Given the description of an element on the screen output the (x, y) to click on. 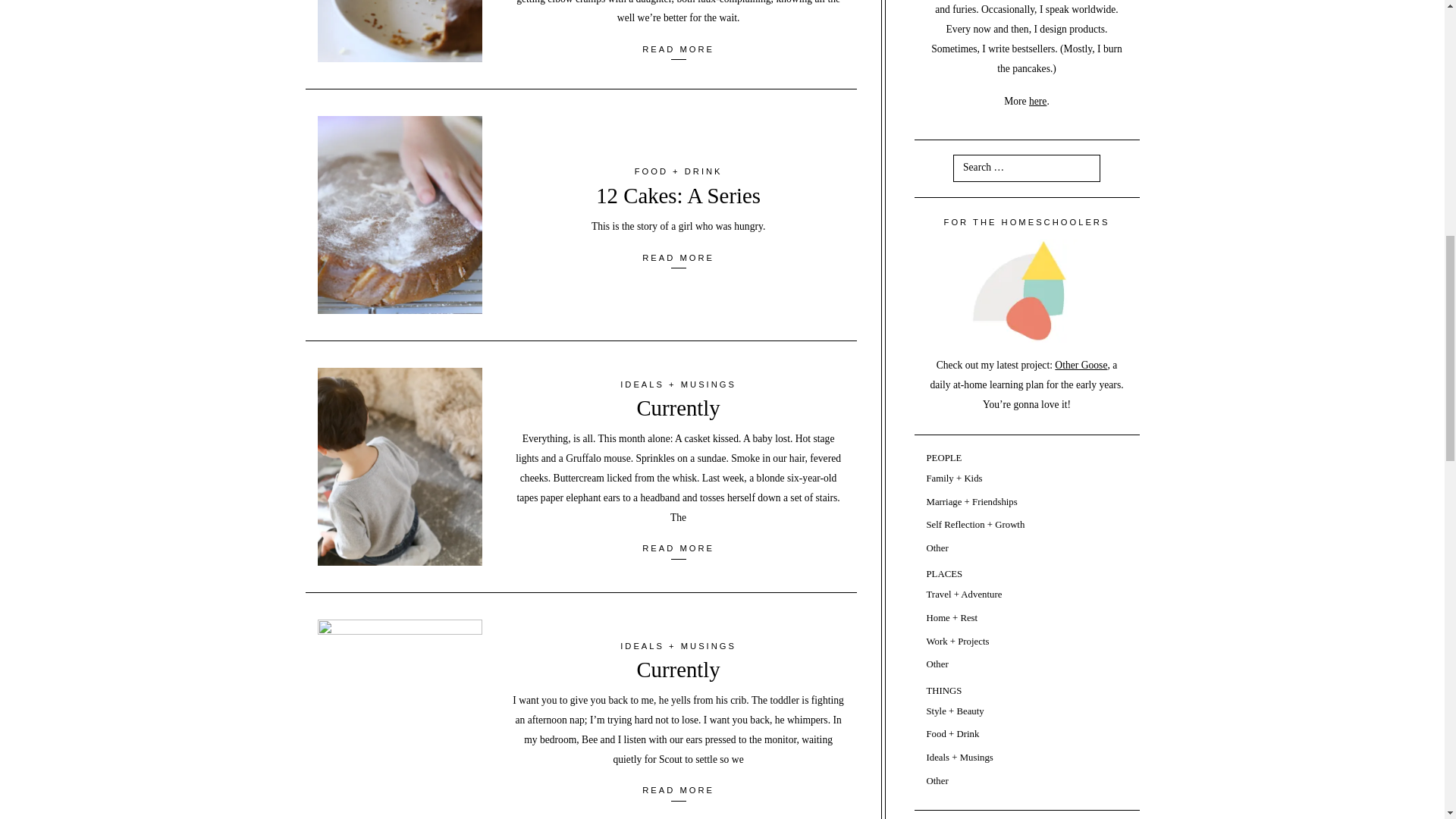
READ MORE (678, 49)
12 Cakes: A Series (677, 195)
READ MORE (678, 257)
